Given the description of an element on the screen output the (x, y) to click on. 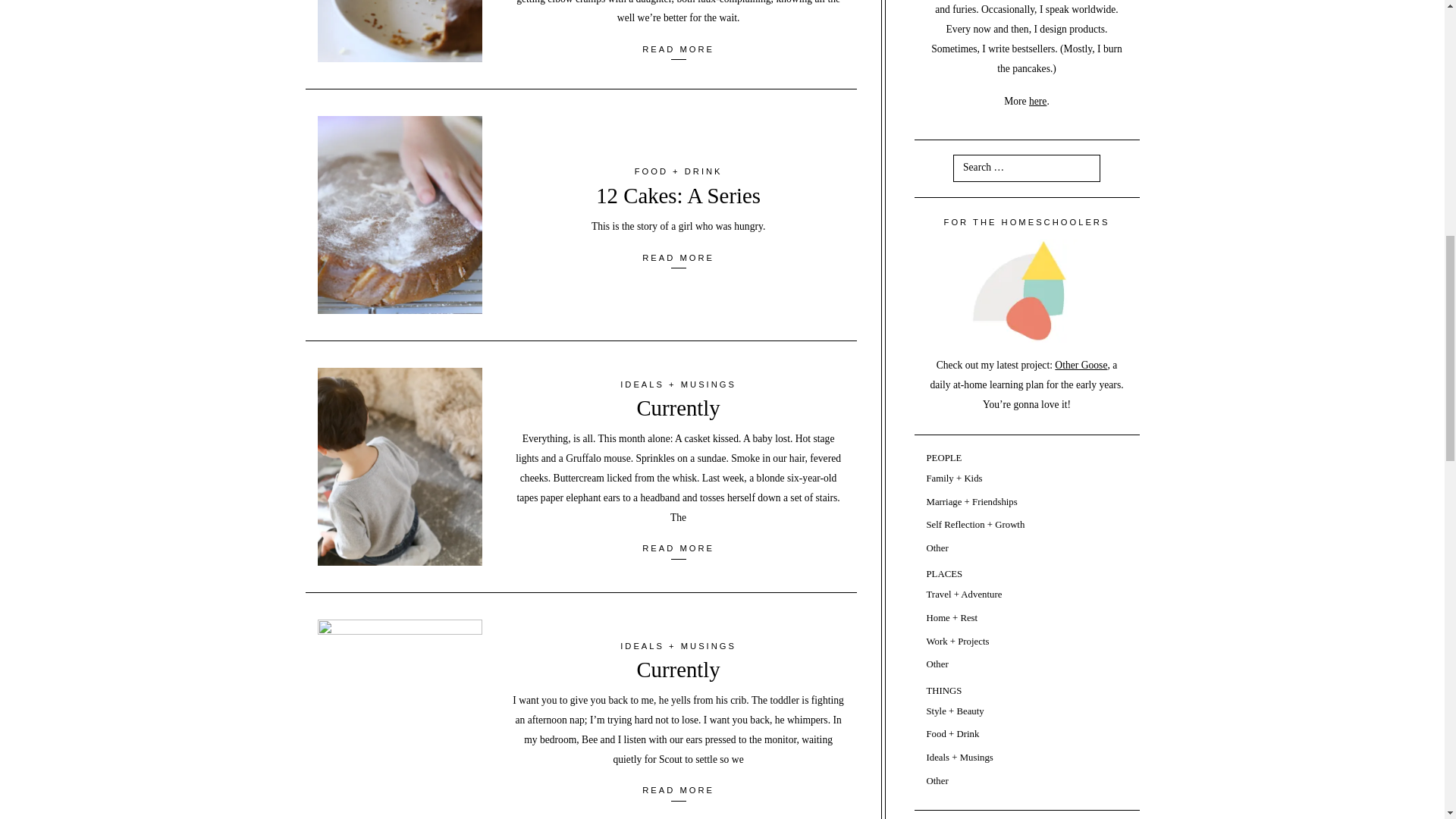
READ MORE (678, 49)
12 Cakes: A Series (677, 195)
READ MORE (678, 257)
